Given the description of an element on the screen output the (x, y) to click on. 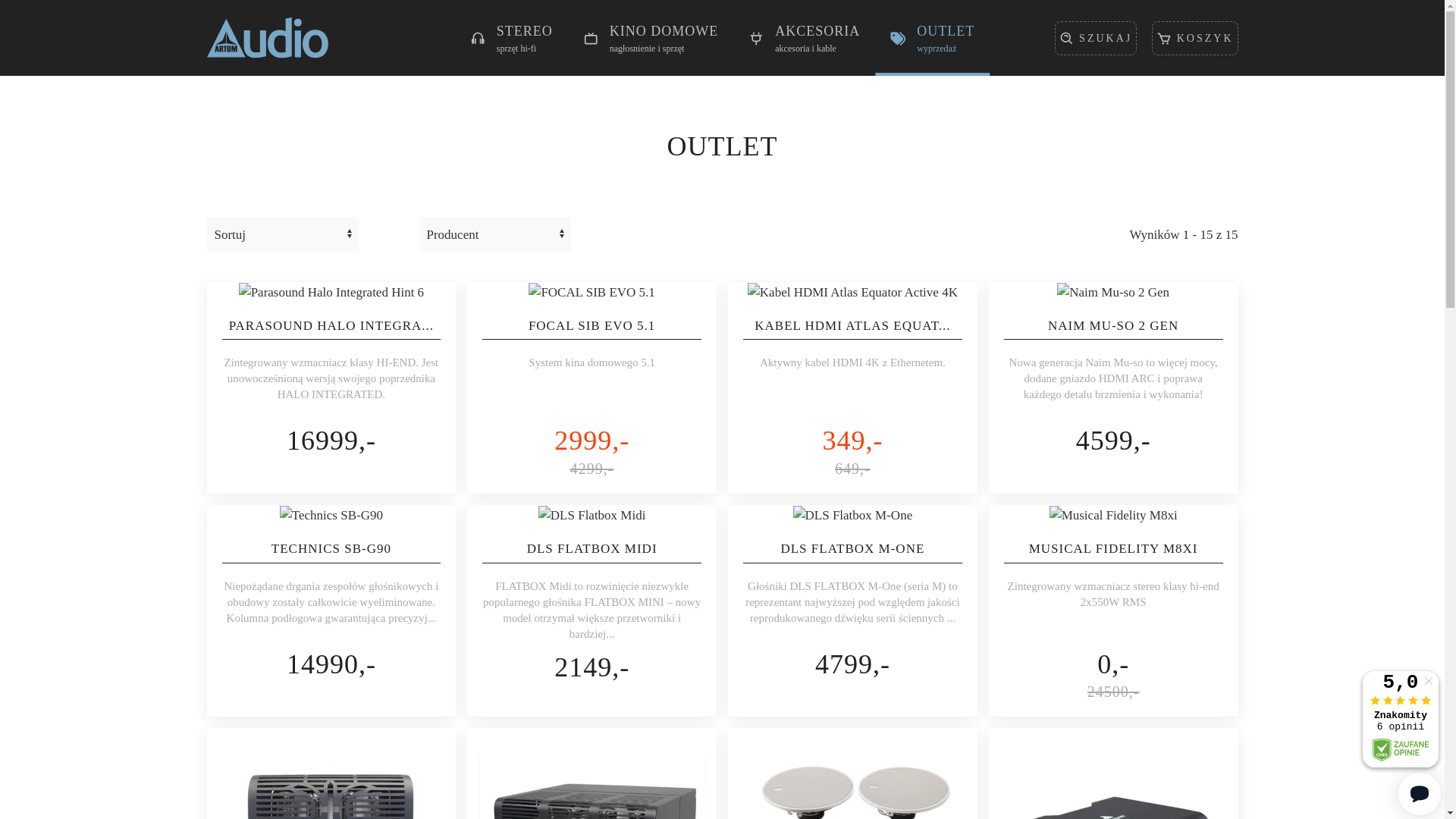
KOSZYK Element type: text (1194, 38)
AKCESORIA
akcesoria i kable Element type: text (804, 37)
Smartsupp widget button Element type: hover (1419, 793)
FOCAL SIB EVO 5.1
System kina domowego 5.1
2999,-
4299,- Element type: text (591, 387)
